Given the description of an element on the screen output the (x, y) to click on. 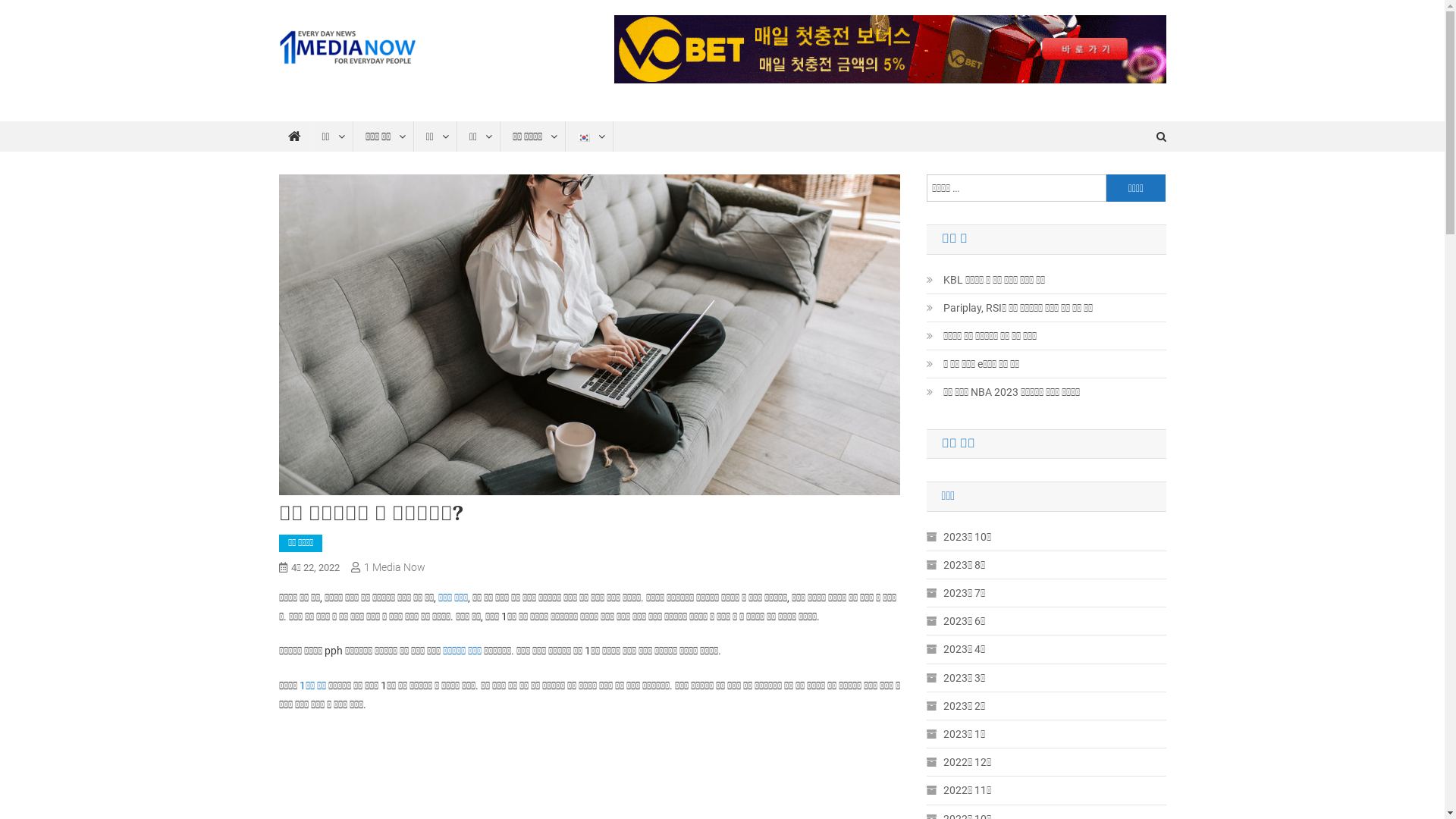
Skip to content Element type: text (35, 9)
1 Media Now Element type: text (394, 567)
